Given the description of an element on the screen output the (x, y) to click on. 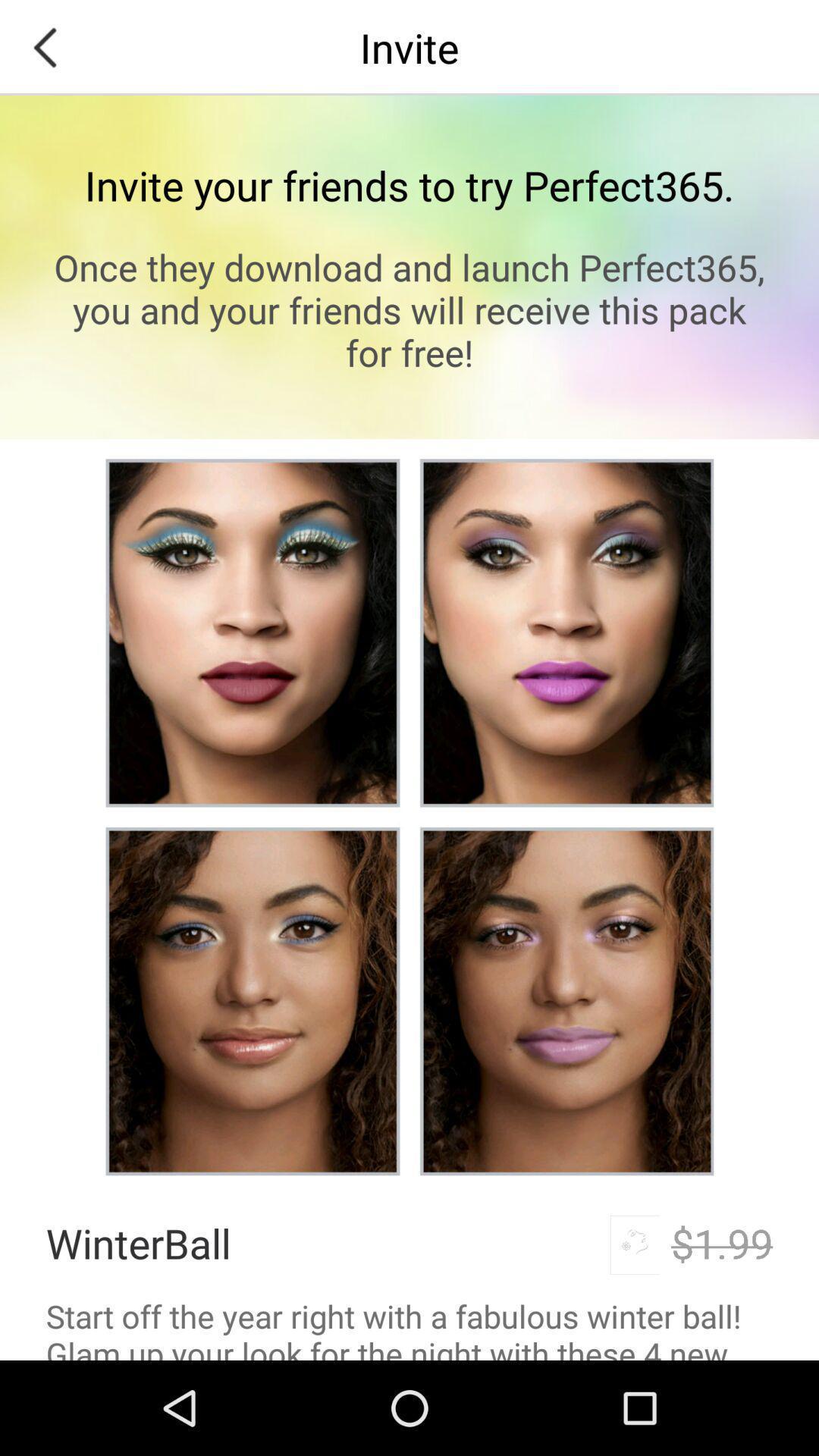
jump to the start off the item (409, 1327)
